Given the description of an element on the screen output the (x, y) to click on. 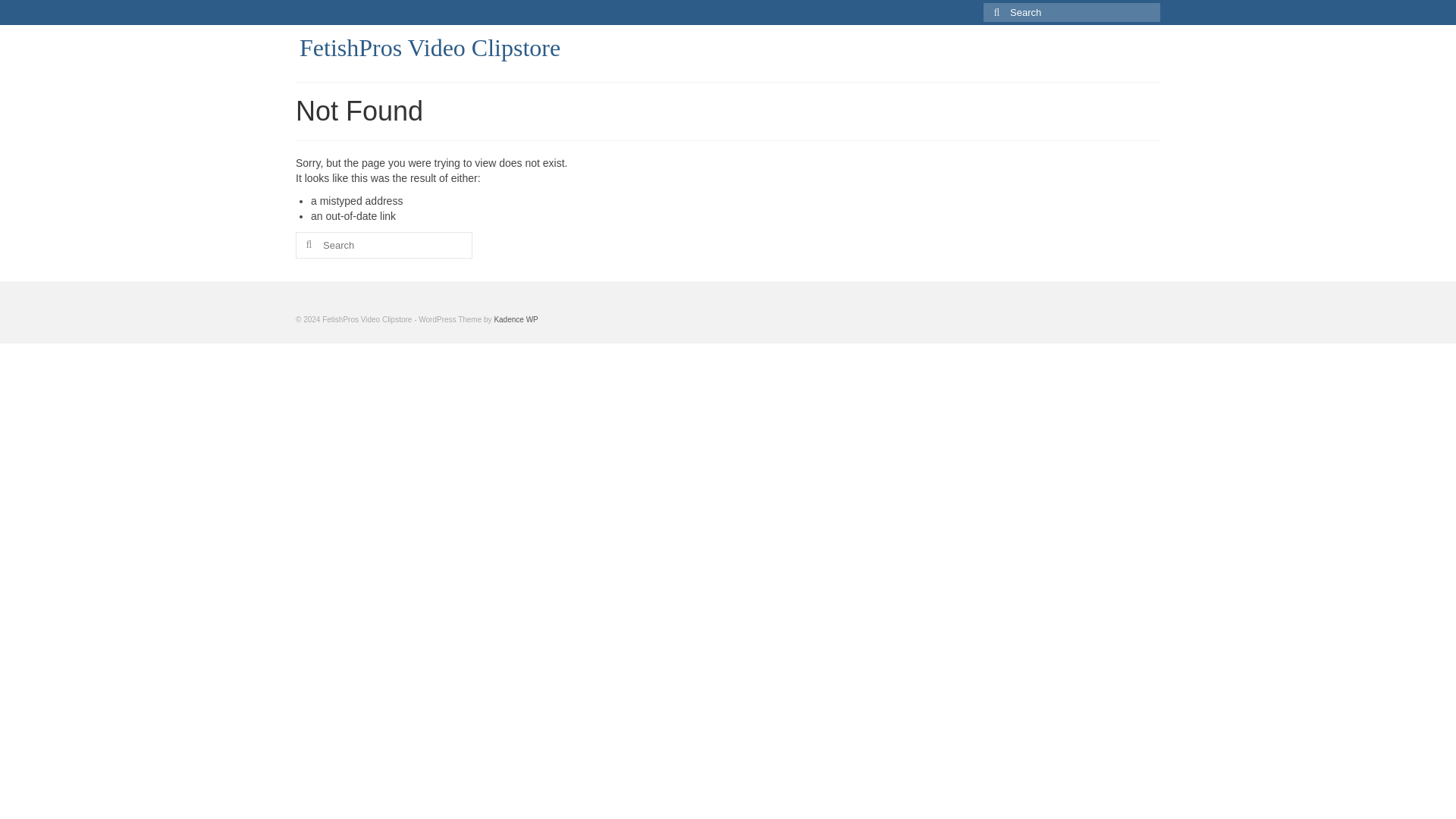
FetishPros Video Clipstore (429, 47)
Kadence WP (515, 319)
